Given the description of an element on the screen output the (x, y) to click on. 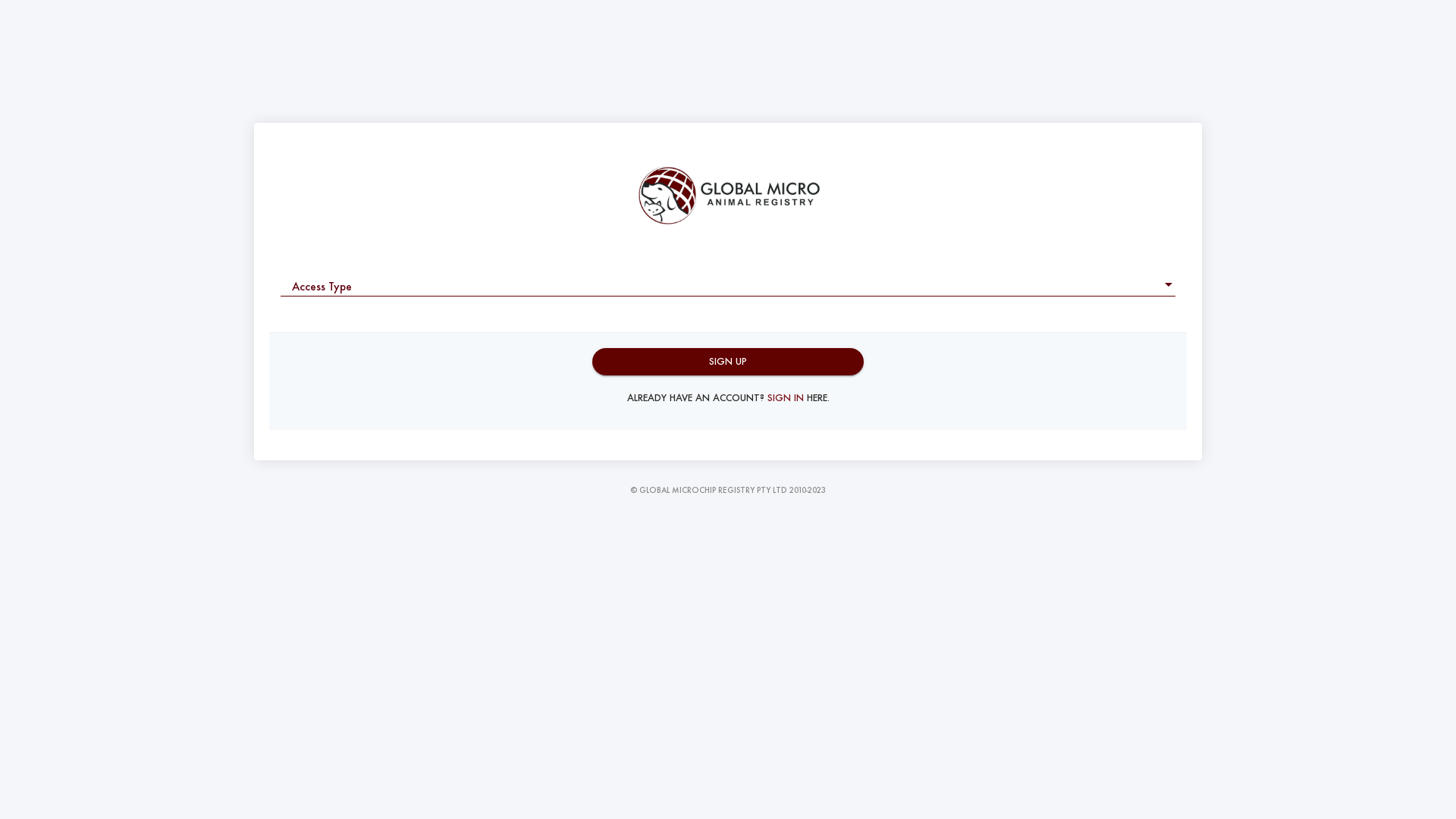
SIGN IN Element type: text (785, 397)
SIGN UP Element type: text (727, 361)
